Given the description of an element on the screen output the (x, y) to click on. 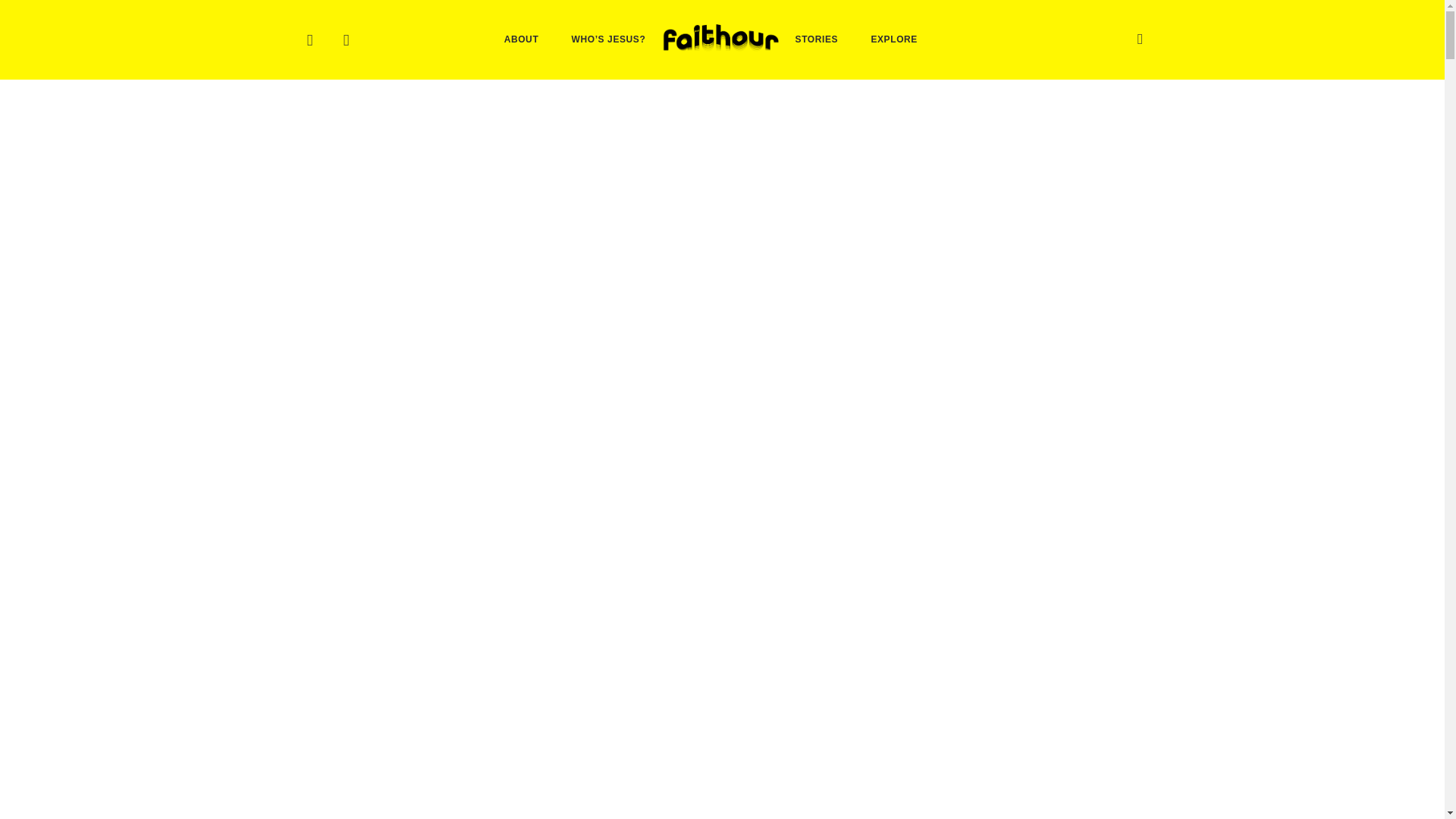
EXPLORE (894, 39)
ABOUT (520, 39)
STORIES (816, 39)
